Given the description of an element on the screen output the (x, y) to click on. 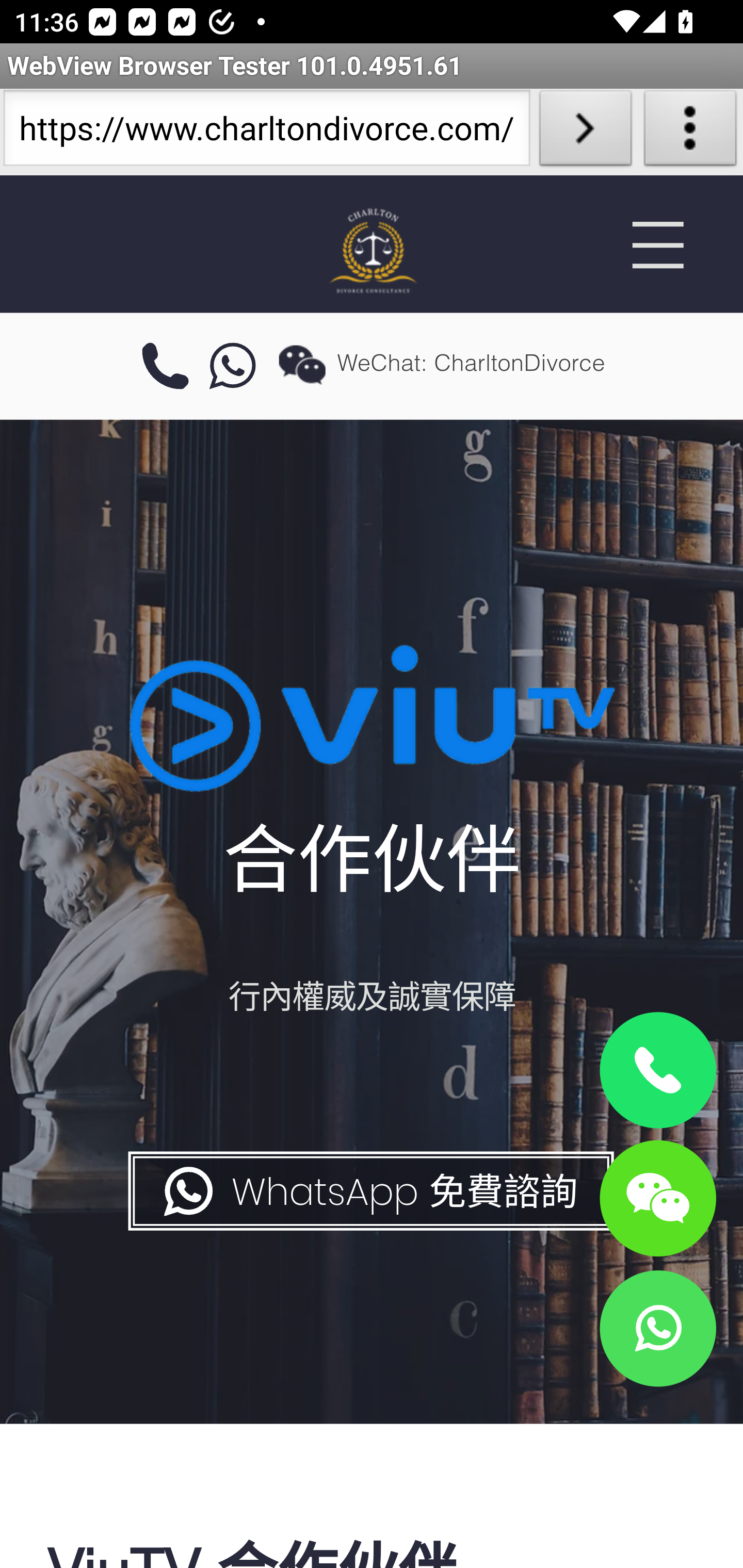
Load URL (585, 132)
About WebView (690, 132)
Open navigation menu (657, 245)
500x500 沒背景.png (371, 249)
tel:+852 9692 7577 (164, 366)
o7rumn (232, 366)
wechat2_edited_edited.png (301, 364)
Phone (657, 1070)
WeChat: CharltonDivorce (657, 1196)
WhatsApp 免費諮詢 (369, 1191)
WhatsApp (657, 1327)
